Given the description of an element on the screen output the (x, y) to click on. 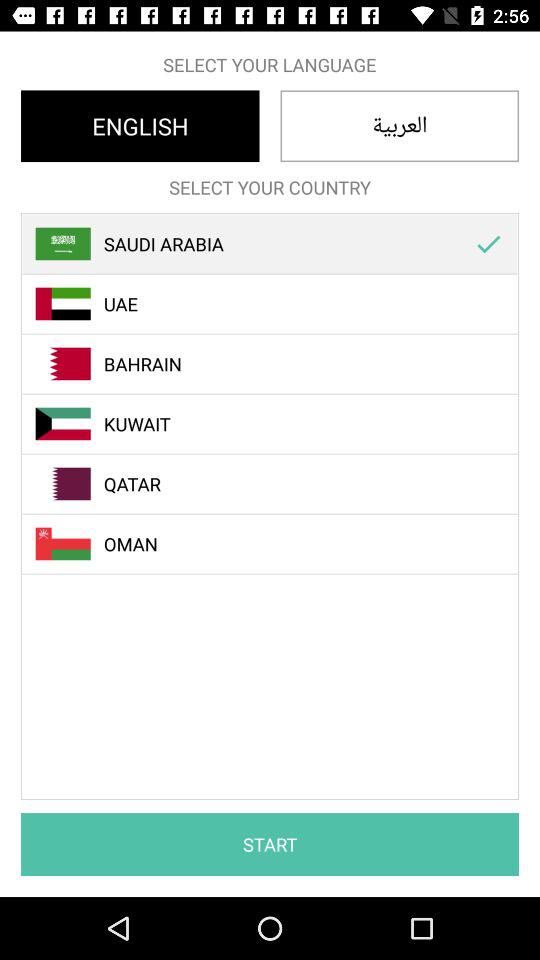
jump until english (140, 126)
